Given the description of an element on the screen output the (x, y) to click on. 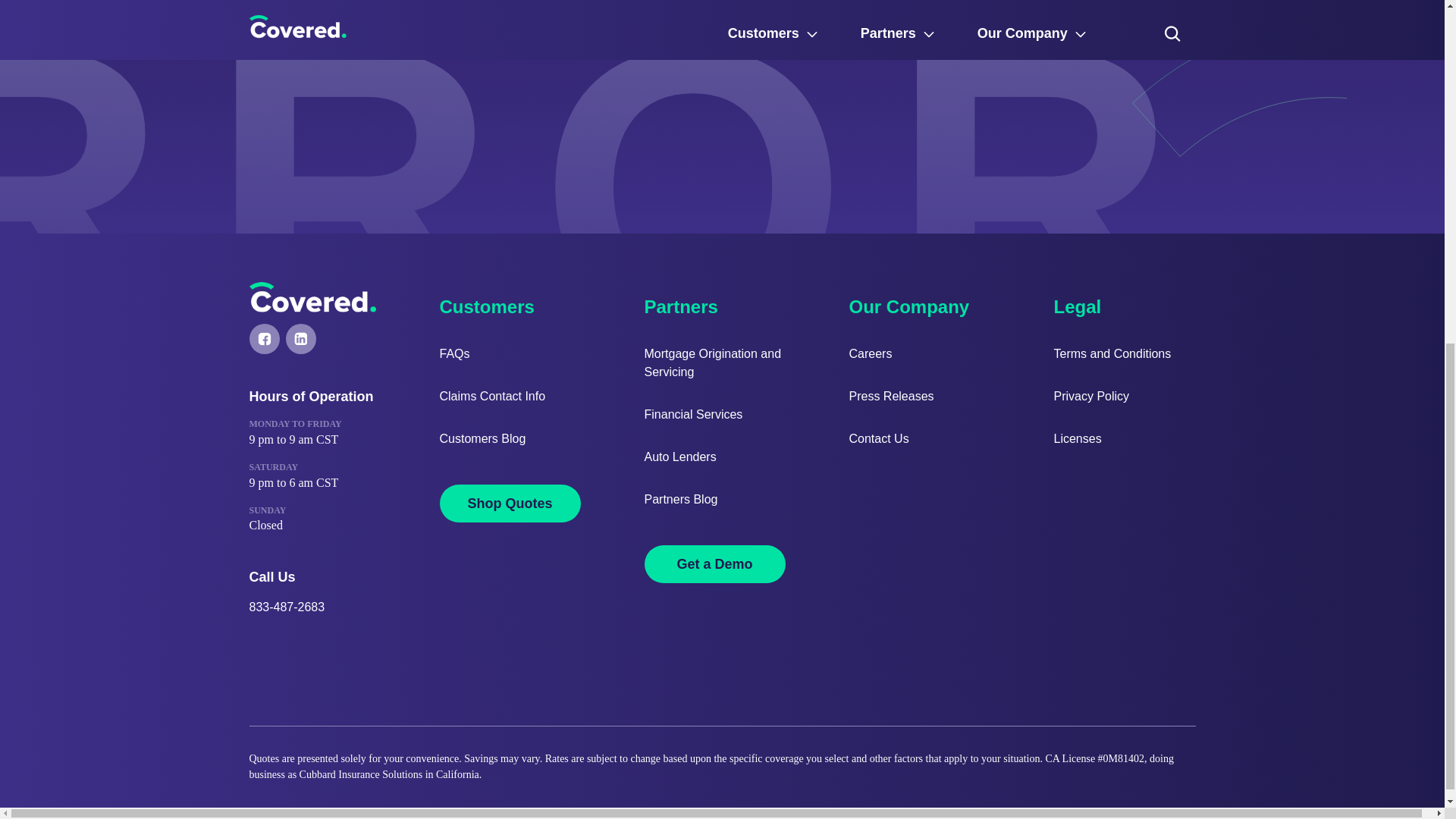
Contact Us (919, 438)
Get a Demo (715, 564)
Auto Lenders (715, 456)
Our Company (919, 301)
Shop Quotes (509, 503)
Partners (683, 301)
Careers (919, 353)
Press Releases (919, 396)
Partners Blog (715, 499)
Claims Contact Info (509, 396)
